Given the description of an element on the screen output the (x, y) to click on. 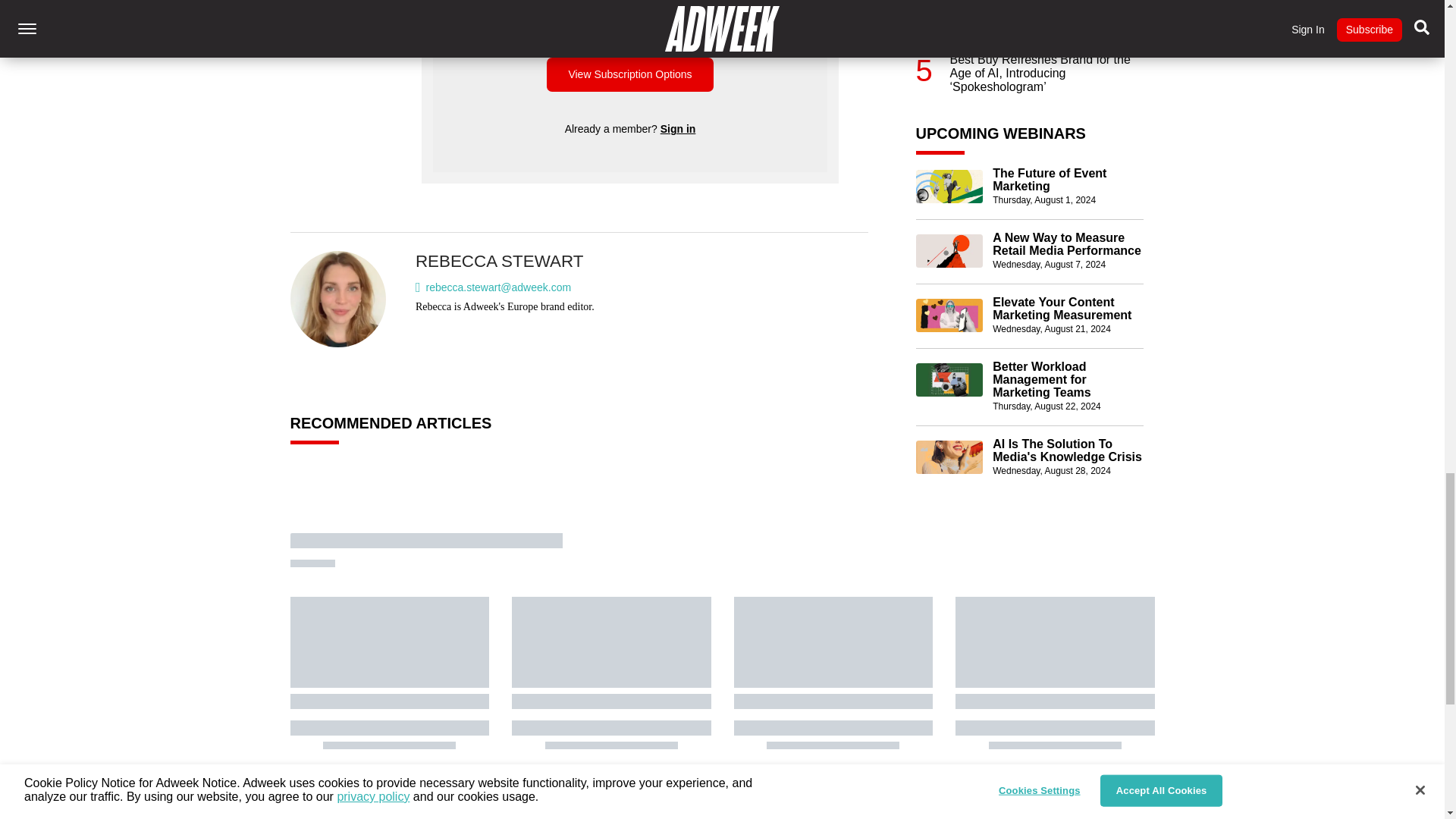
Stackline-Webinar-080724-Header (948, 250)
View Subscription Options (630, 74)
Rebecca Stewart-2022 (338, 299)
CventWebinar08012Header (948, 186)
Sign in (678, 128)
Nativo-Webinar-082124-Header (948, 315)
Qatalog-Webinar-082824-Header (948, 457)
Adobe-Webinar-082224-Header (948, 379)
